Given the description of an element on the screen output the (x, y) to click on. 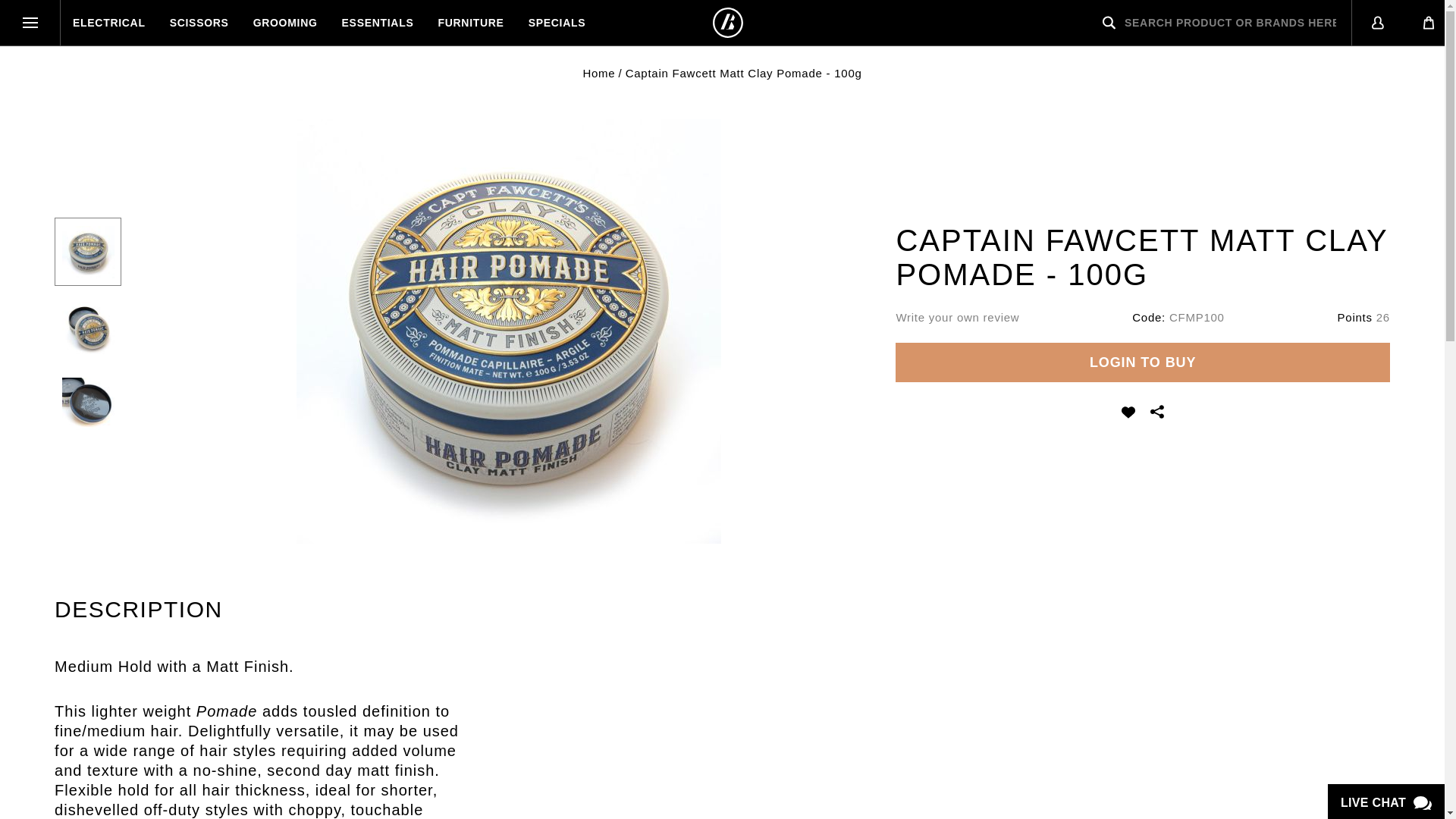
Captain Fawcett Matt Clay Pomade - 100g (87, 251)
Captain Fawcett Matt Clay Pomade - 100g (87, 327)
ELECTRICAL (109, 22)
GROOMING (285, 22)
Go to Home Page (598, 72)
SCISSORS (199, 22)
Captain Fawcett Matt Clay Pomade - 100g (87, 403)
